Given the description of an element on the screen output the (x, y) to click on. 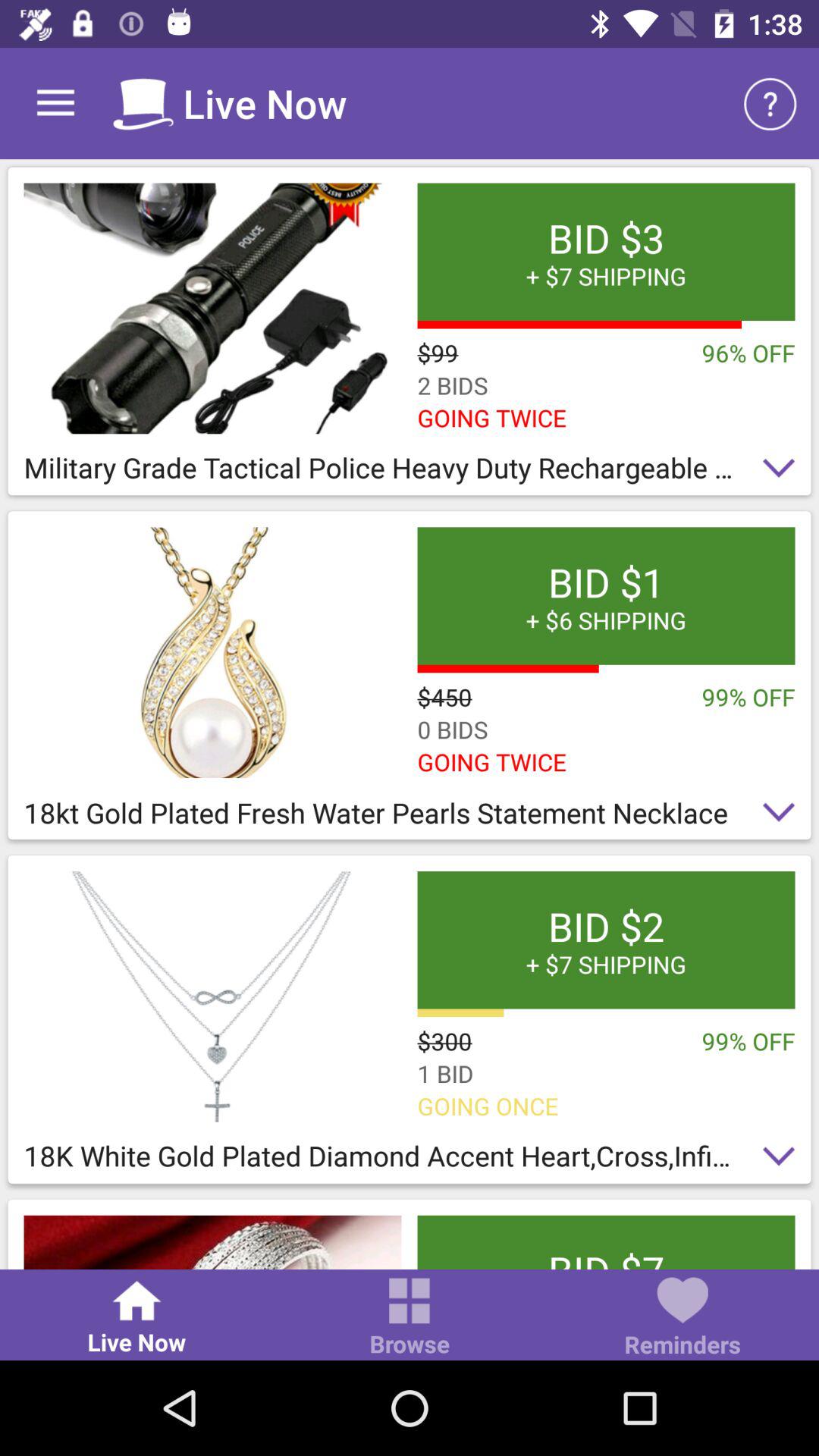
turn on the icon next to the reminders icon (409, 1318)
